Given the description of an element on the screen output the (x, y) to click on. 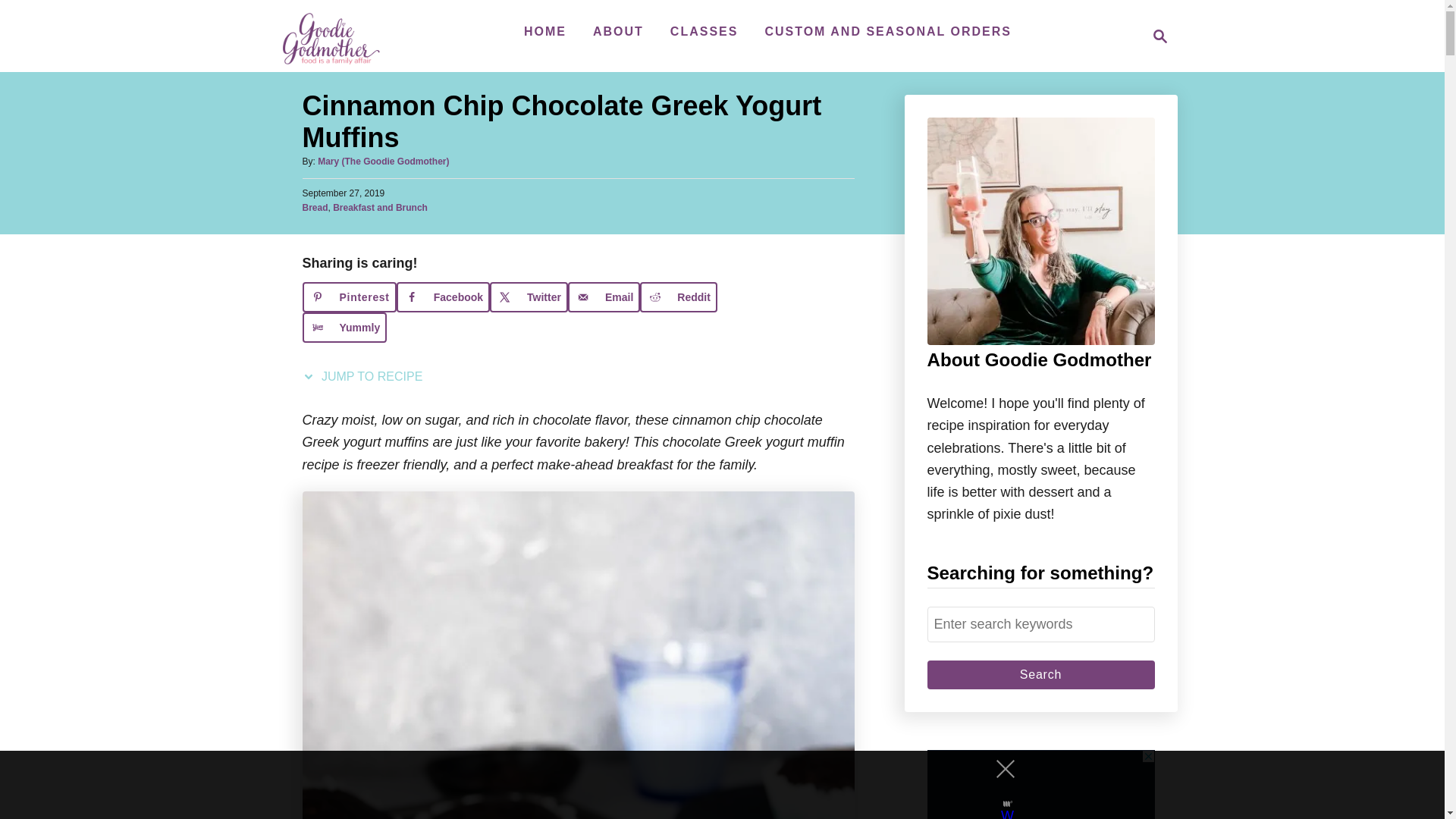
JUMP TO RECIPE (365, 376)
Yummly (344, 327)
Share on X (528, 296)
HOME (544, 31)
CUSTOM AND SEASONAL ORDERS (888, 31)
Share on Yummly (344, 327)
Send over email (603, 296)
Pinterest (348, 296)
Save to Pinterest (348, 296)
Bread (314, 207)
Search (1040, 674)
Facebook (442, 296)
Magnifying Glass (1160, 36)
Breakfast and Brunch (380, 207)
Goodie Godmother (334, 35)
